Given the description of an element on the screen output the (x, y) to click on. 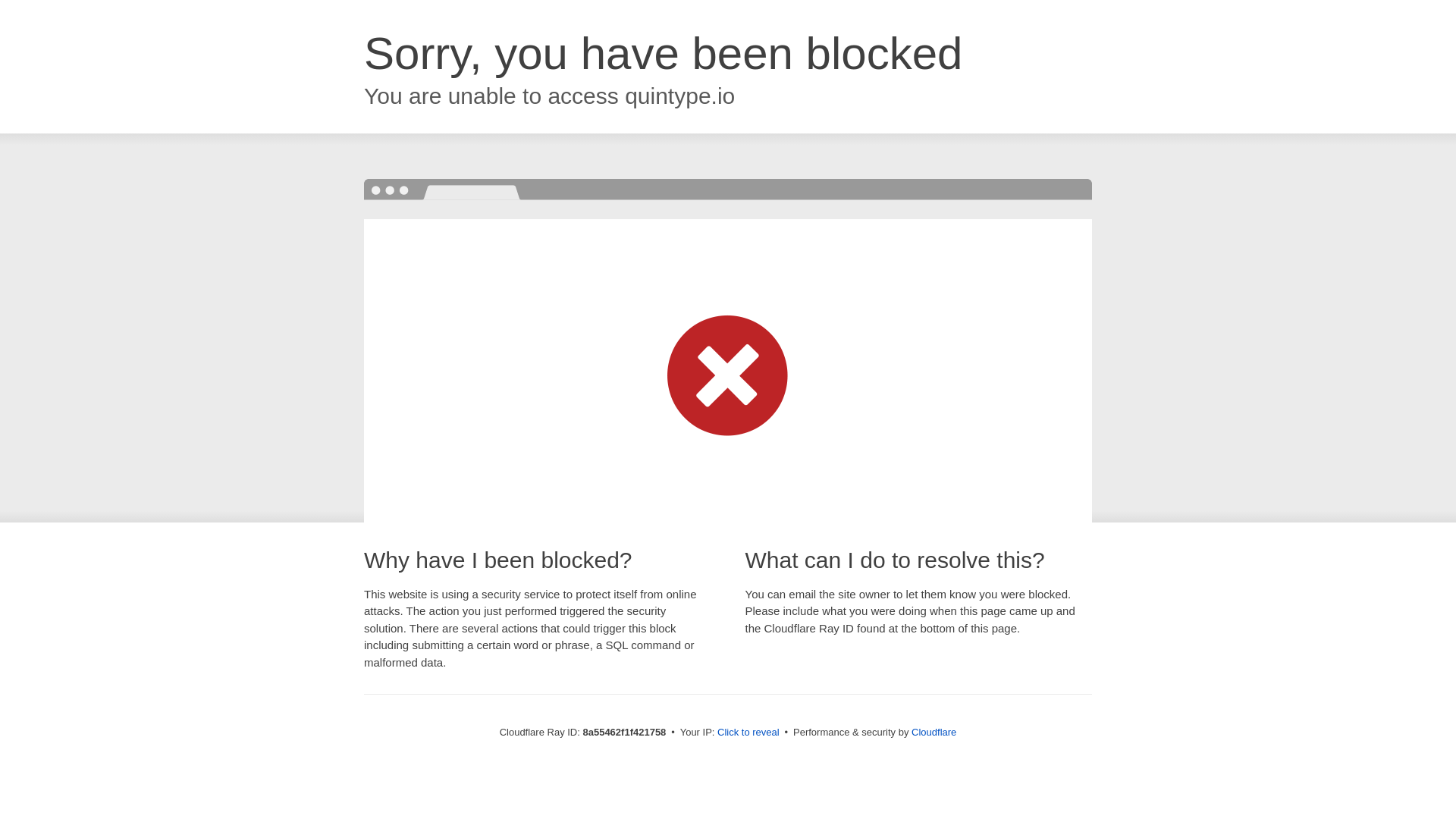
Click to reveal (747, 732)
Cloudflare (933, 731)
